Given the description of an element on the screen output the (x, y) to click on. 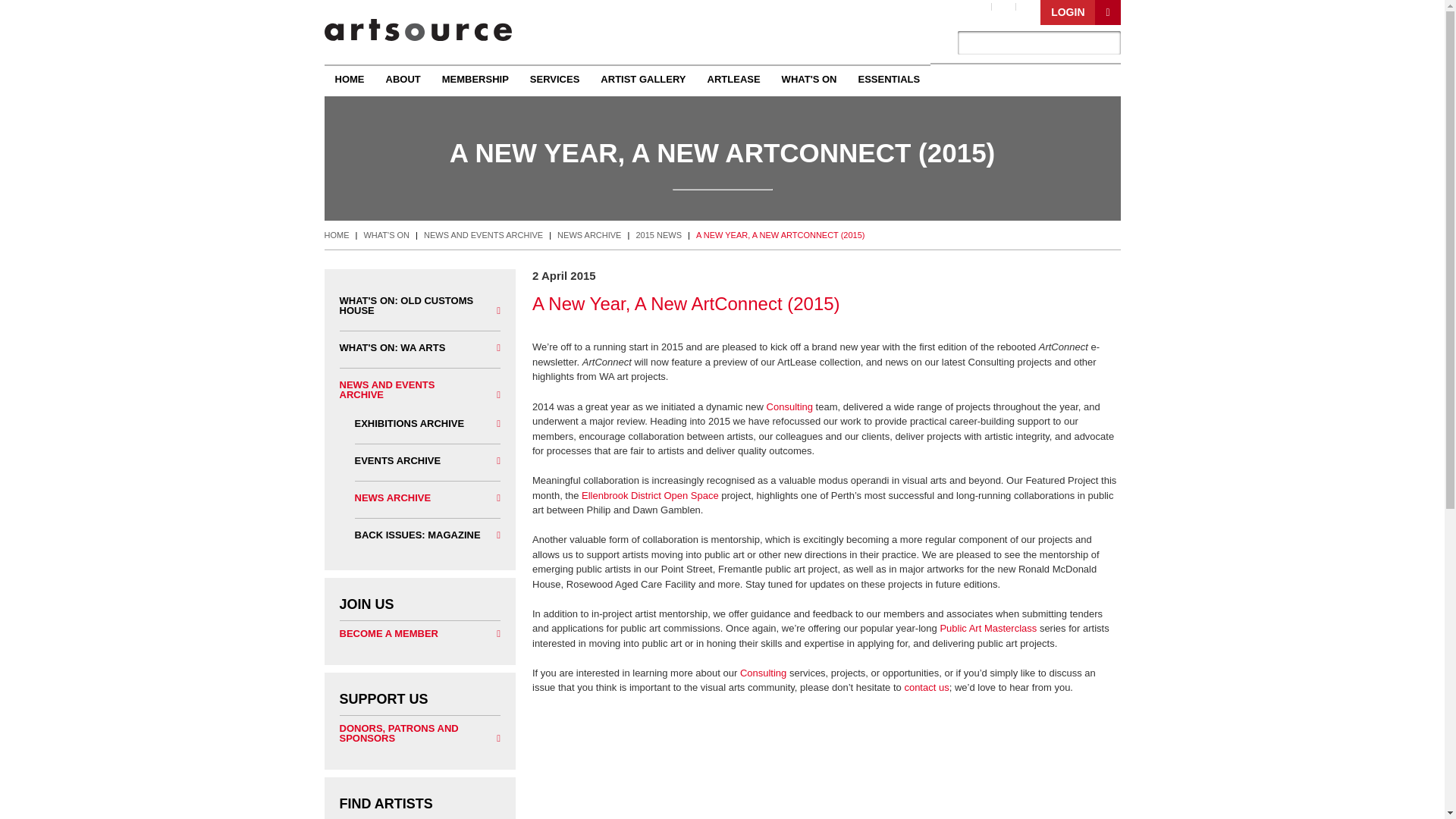
LOGIN (1080, 12)
HOME (349, 78)
ABOUT (402, 78)
MEMBERSHIP (474, 78)
